Given the description of an element on the screen output the (x, y) to click on. 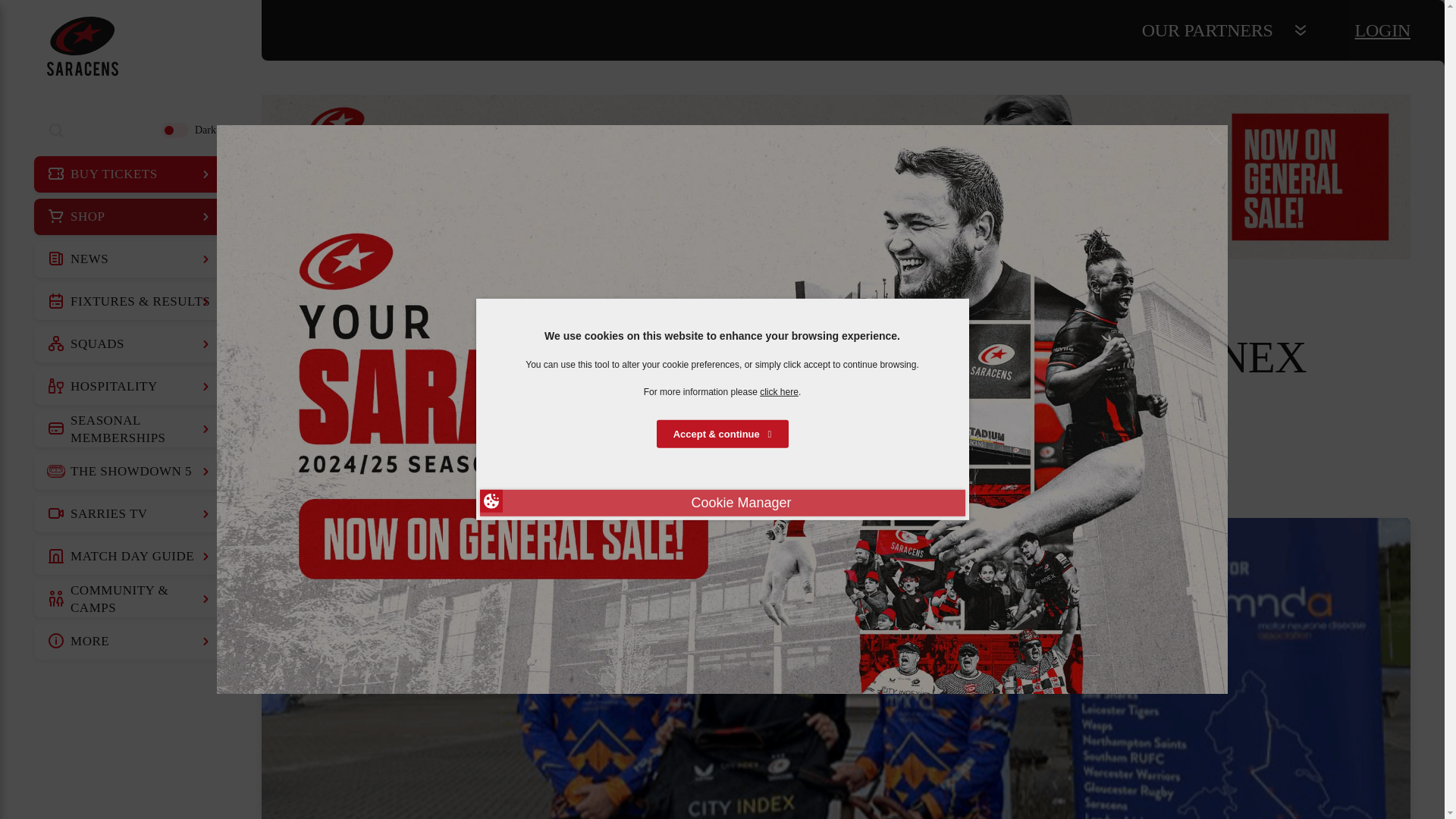
THE SHOWDOWN 5 (130, 471)
SEASONAL MEMBERSHIPS (130, 429)
HOSPITALITY (130, 386)
SHOP (130, 217)
LOGIN (1382, 29)
NEWS (130, 258)
Cookie Manager (721, 502)
Search (55, 130)
MATCH DAY GUIDE (130, 556)
BUY TICKETS (130, 174)
SQUADS (130, 343)
MORE (130, 641)
SARRIES TV (130, 514)
